Given the description of an element on the screen output the (x, y) to click on. 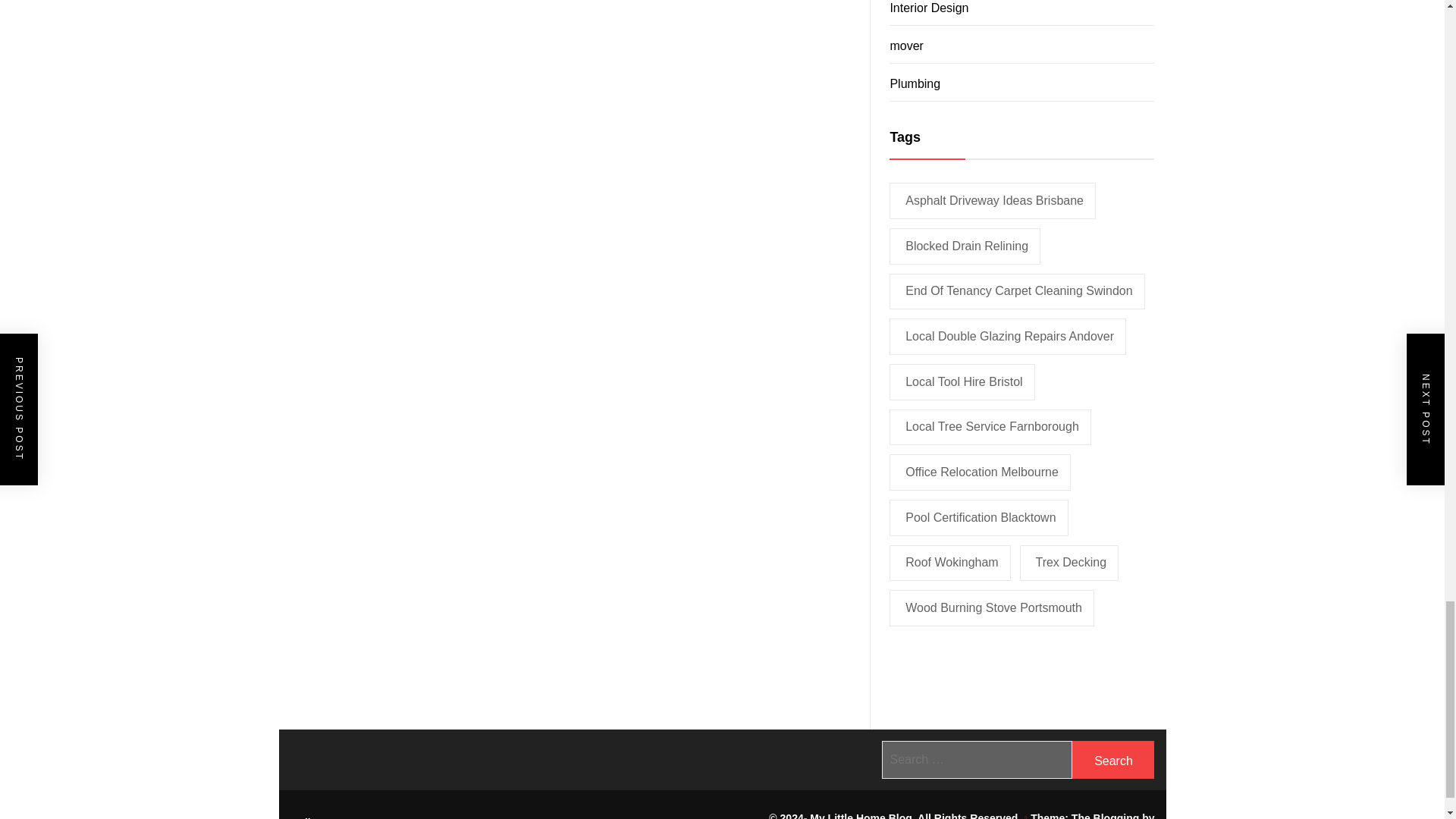
Search (1112, 759)
Search (1112, 759)
